Given the description of an element on the screen output the (x, y) to click on. 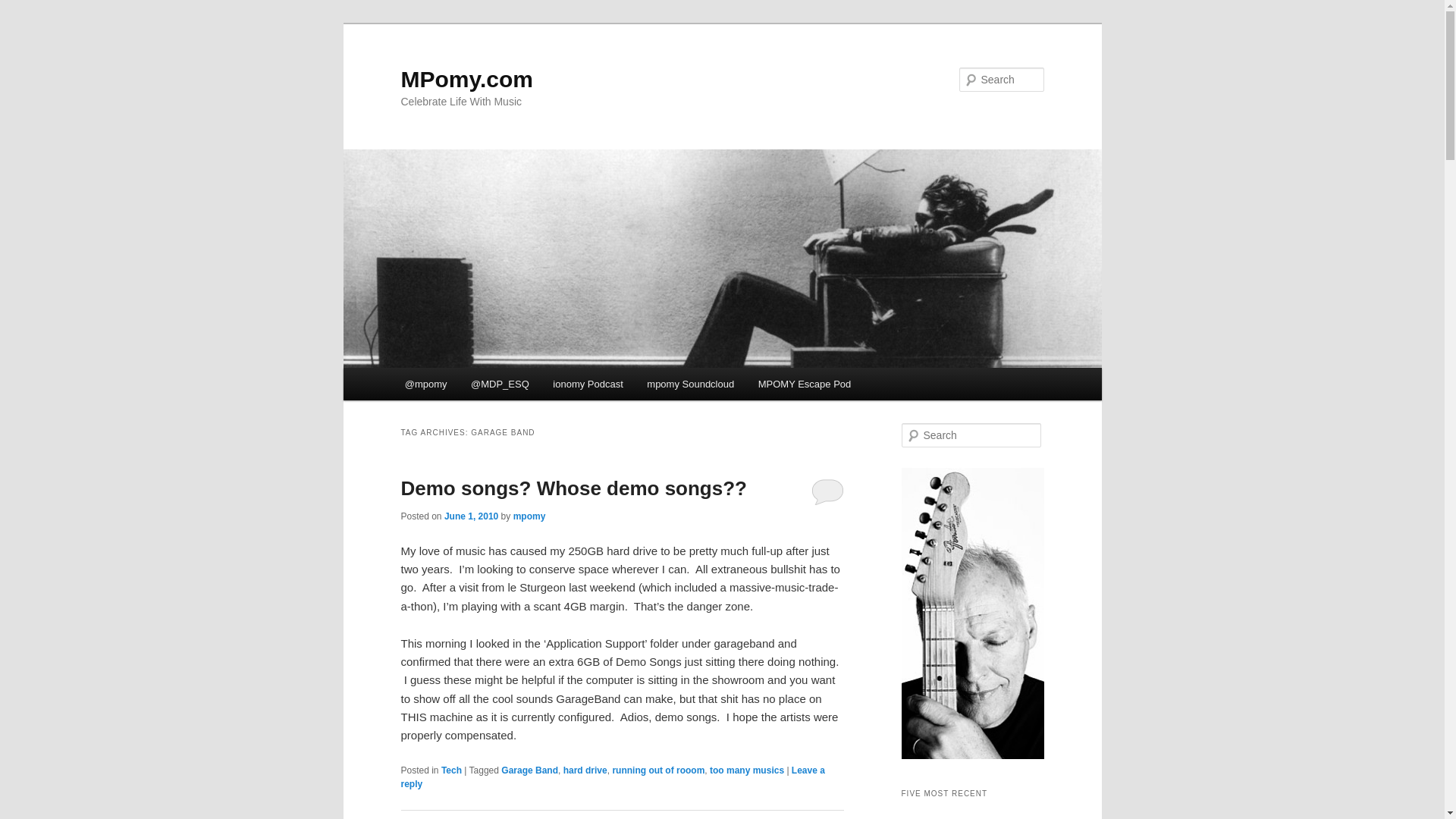
Garage Band (528, 769)
mpomy (529, 516)
Tech (451, 769)
June 1, 2010 (470, 516)
Leave a reply (612, 776)
running out of rooom (657, 769)
mpomy Soundcloud (689, 383)
Search (24, 8)
10:17 am (470, 516)
hard drive (585, 769)
View all posts by mpomy (529, 516)
too many musics (747, 769)
MPOMY Escape Pod (804, 383)
MPomy.com (466, 78)
